Given the description of an element on the screen output the (x, y) to click on. 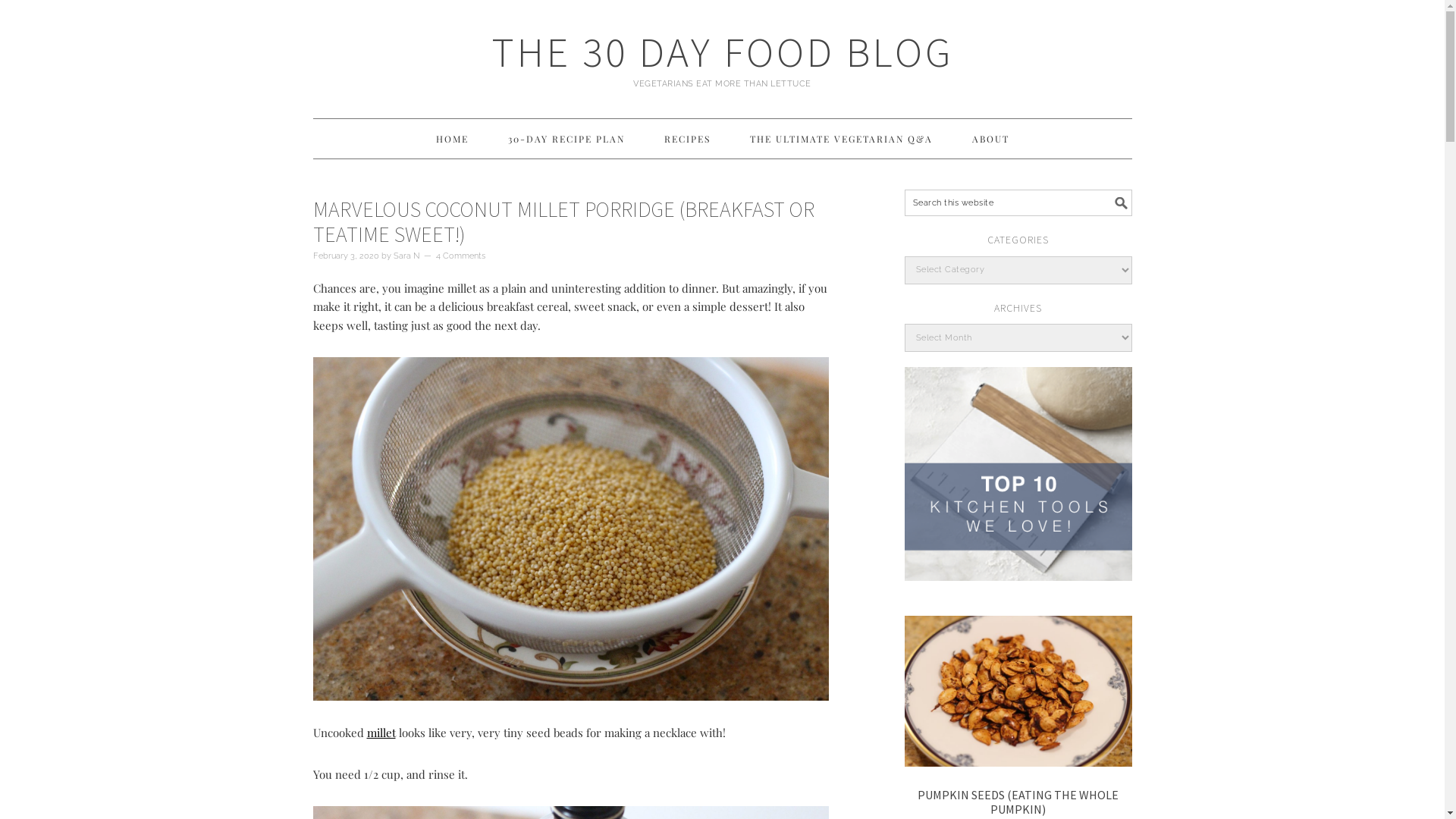
RECIPES Element type: text (686, 138)
Skip to primary navigation Element type: text (312, 0)
Search Element type: text (1131, 188)
4 Comments Element type: text (459, 255)
30-DAY RECIPE PLAN Element type: text (565, 138)
Sara N Element type: text (405, 255)
millet Element type: text (381, 732)
THE ULTIMATE VEGETARIAN Q&A Element type: text (841, 138)
ABOUT Element type: text (989, 138)
PUMPKIN SEEDS (EATING THE WHOLE PUMPKIN) Element type: text (1017, 801)
Pumpkin Seeds (Eating the Whole Pumpkin) Element type: hover (1017, 693)
THE 30 DAY FOOD BLOG Element type: text (722, 51)
HOME Element type: text (452, 138)
